Given the description of an element on the screen output the (x, y) to click on. 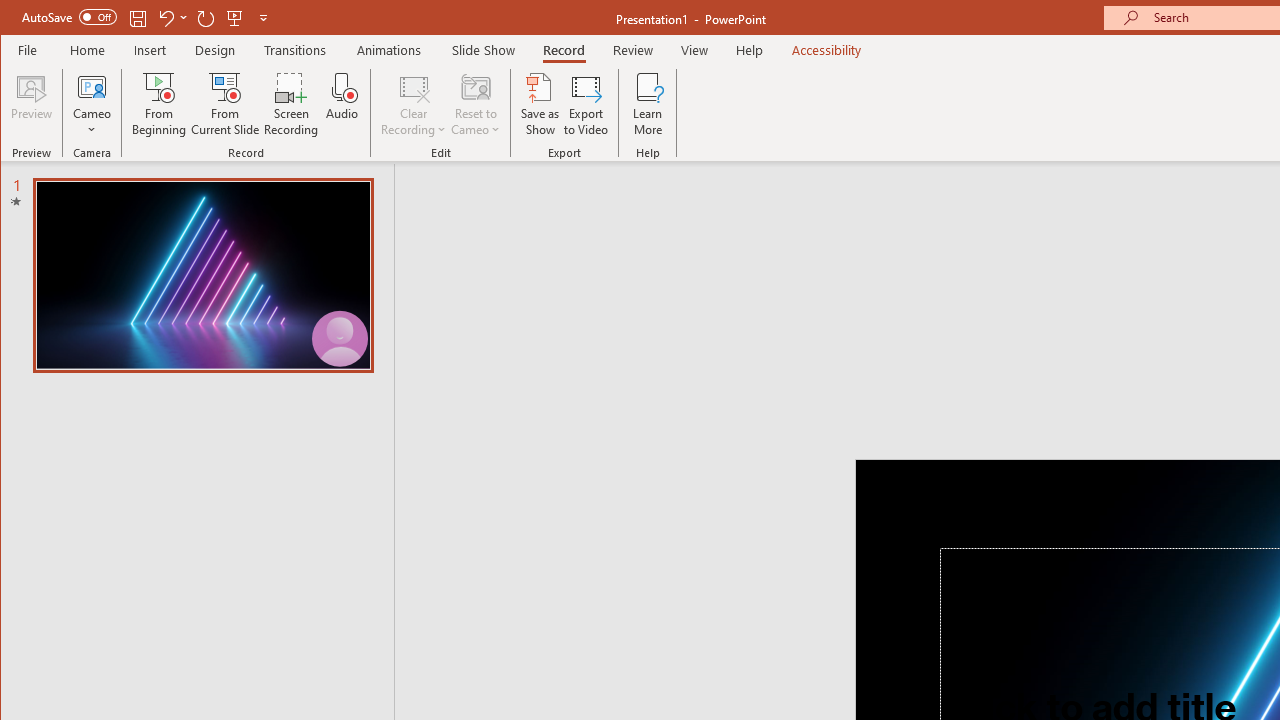
Clear Recording (413, 104)
